Given the description of an element on the screen output the (x, y) to click on. 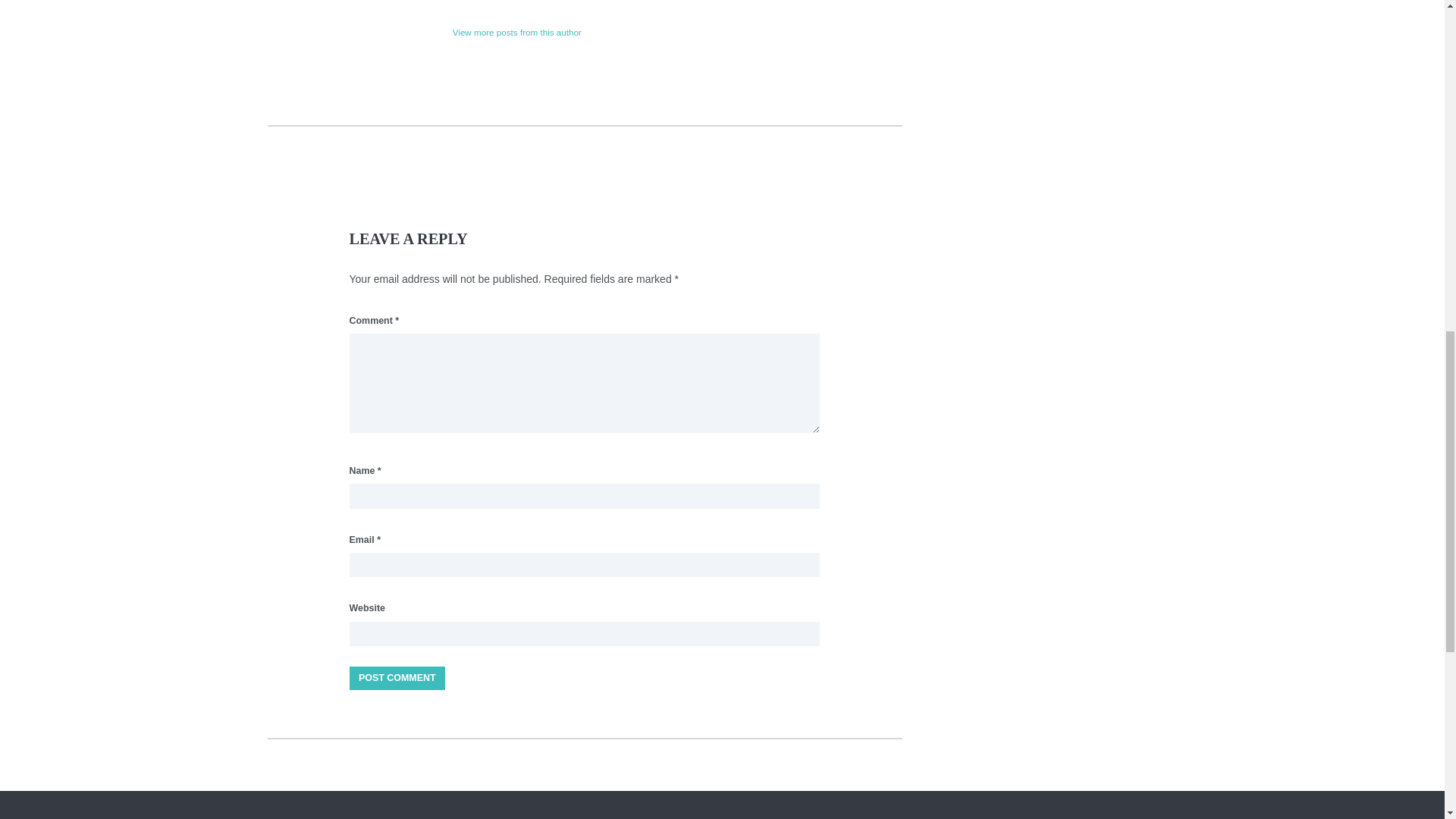
Post Comment (396, 678)
